Given the description of an element on the screen output the (x, y) to click on. 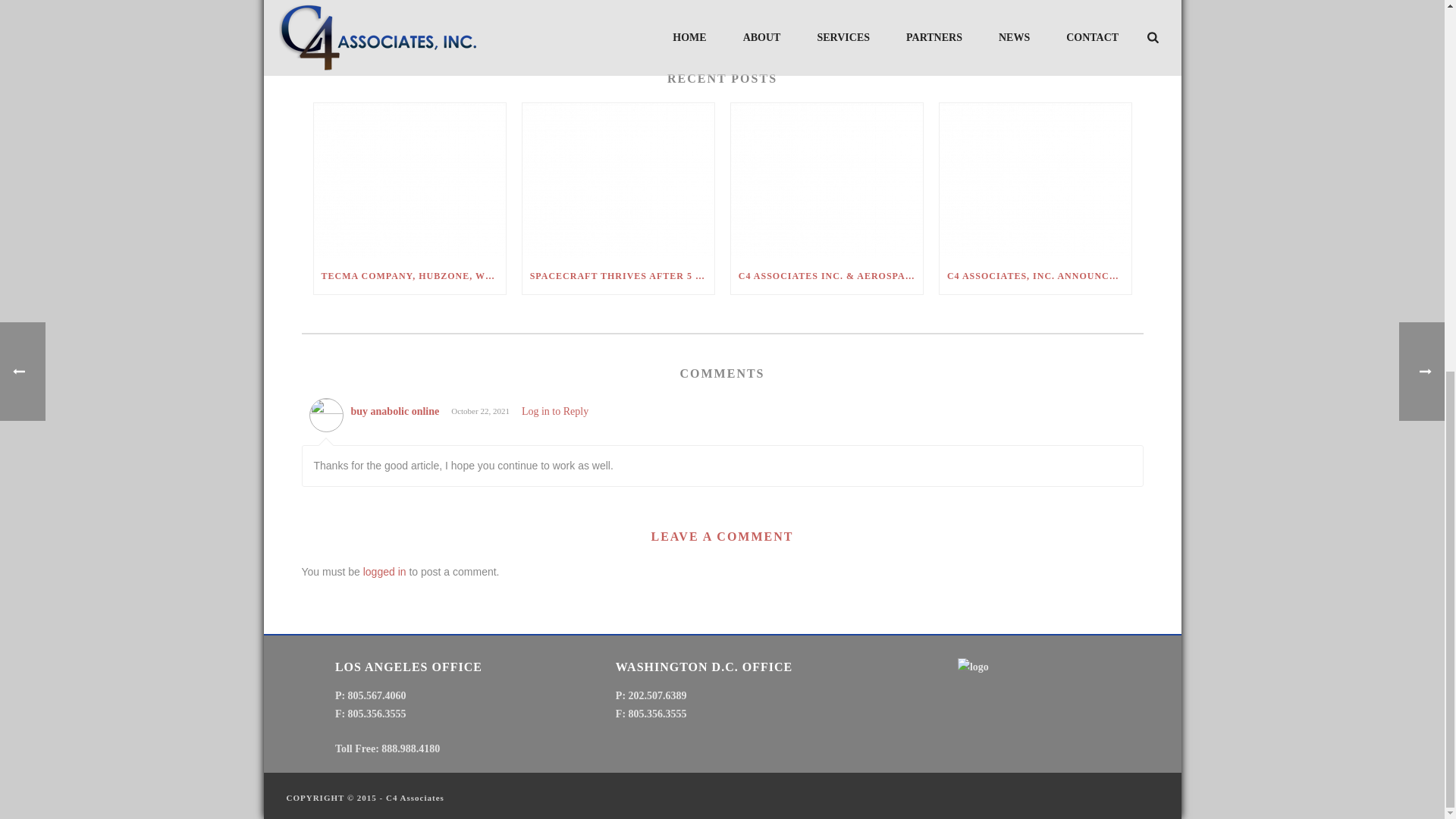
buy anabolic online (394, 410)
Spacecraft Thrives After 5 decades of Service (618, 180)
SPACECRAFT THRIVES AFTER 5 DECADES OF SERVICE (618, 275)
logged in (384, 571)
Log in to Reply (554, 410)
